Given the description of an element on the screen output the (x, y) to click on. 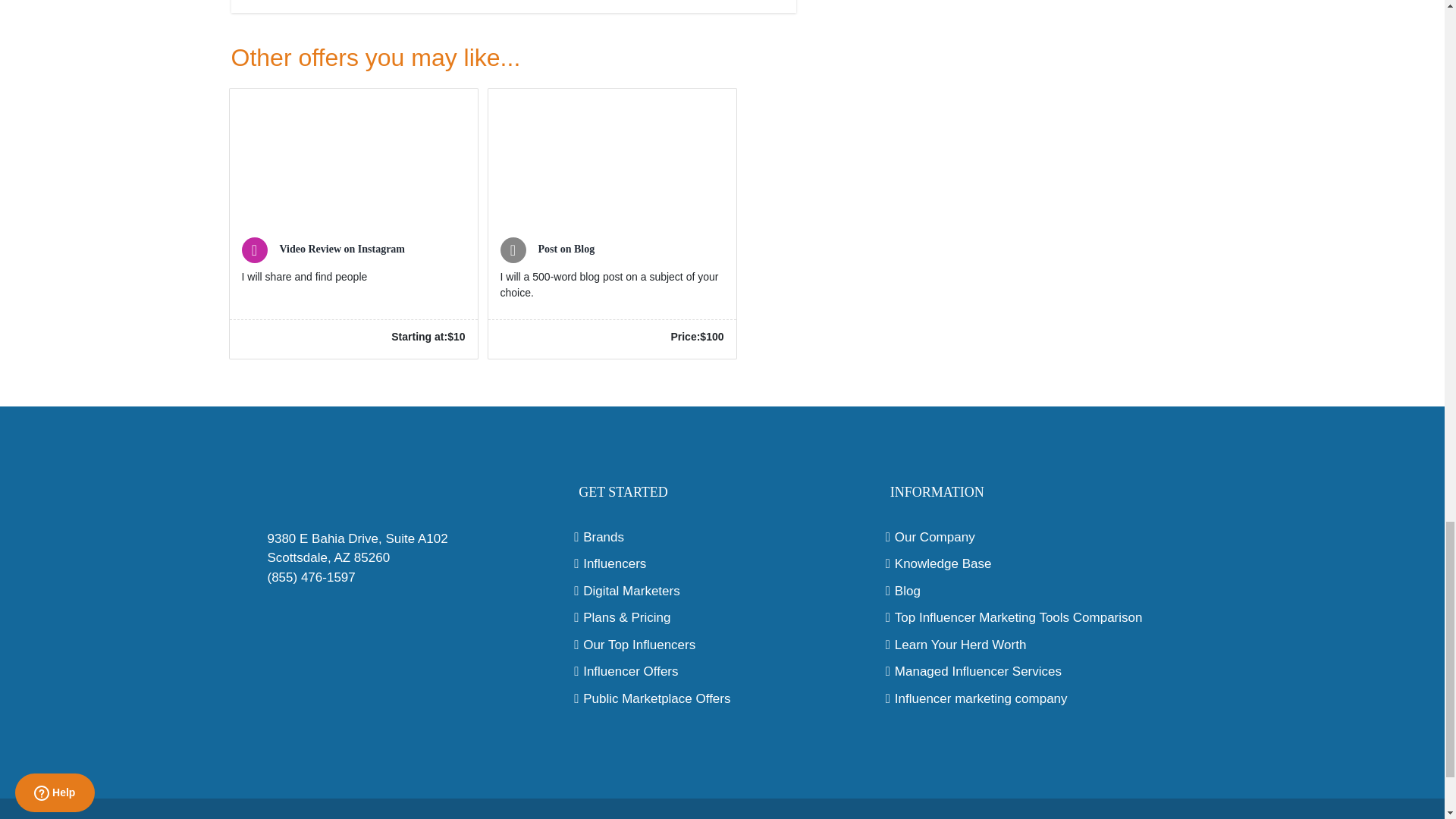
Influencer Offers (722, 671)
Influencers (722, 564)
Our Company (1034, 537)
Public Marketplace Offers (722, 699)
Knowledge Base (1034, 564)
Digital Marketers (722, 591)
Our Top Influencers (722, 645)
Brands (722, 537)
